Given the description of an element on the screen output the (x, y) to click on. 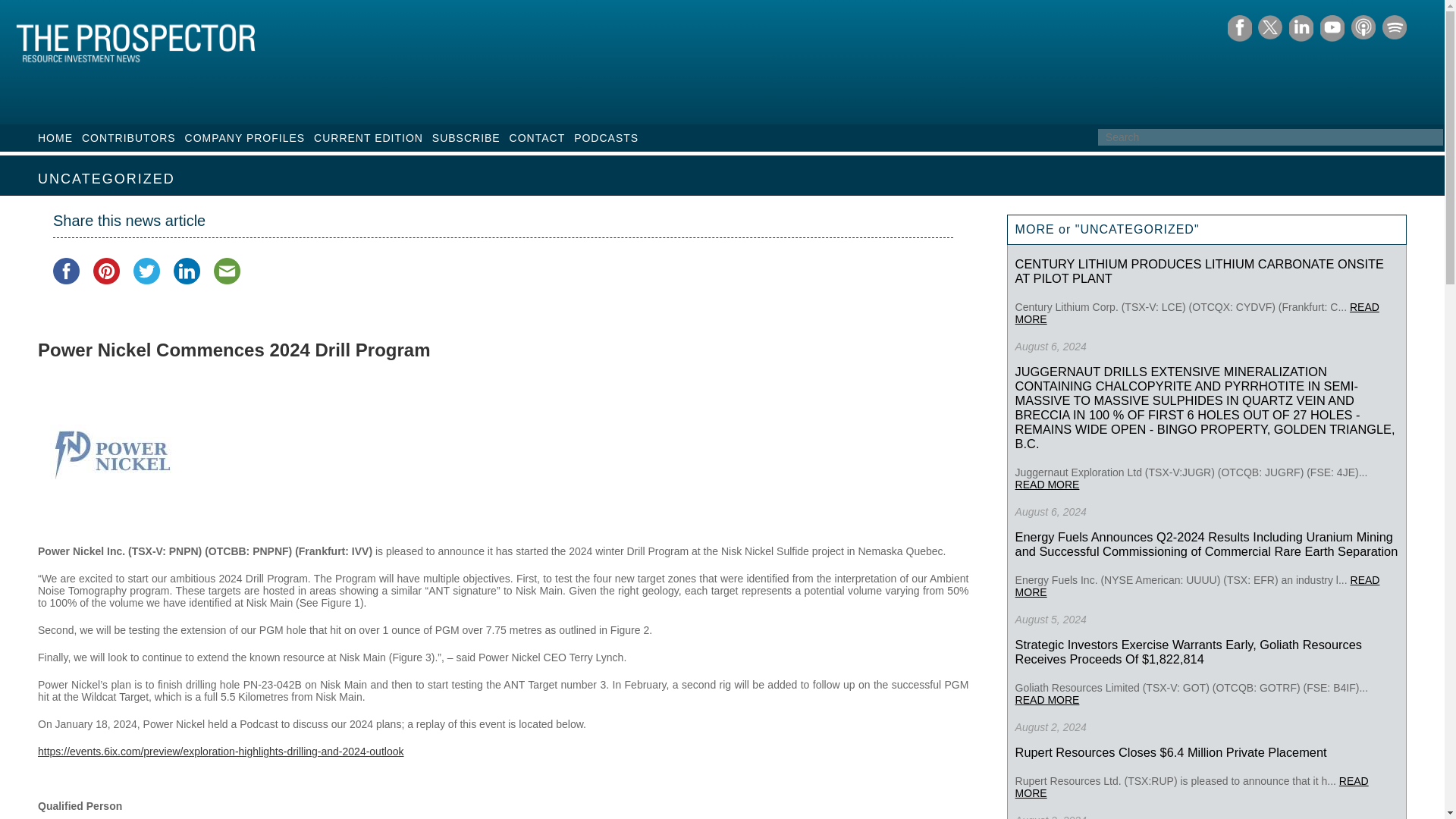
PODCASTS (606, 137)
linkedin (186, 270)
SUBSCRIBE (466, 137)
READ MORE (1047, 699)
HOME (54, 137)
READ MORE (1196, 313)
CONTACT (537, 137)
CURRENT EDITION (368, 137)
email (227, 270)
READ MORE (1197, 586)
READ MORE (1191, 786)
twitter (146, 270)
facebook (66, 270)
COMPANY PROFILES (244, 137)
pinterest (106, 270)
